Given the description of an element on the screen output the (x, y) to click on. 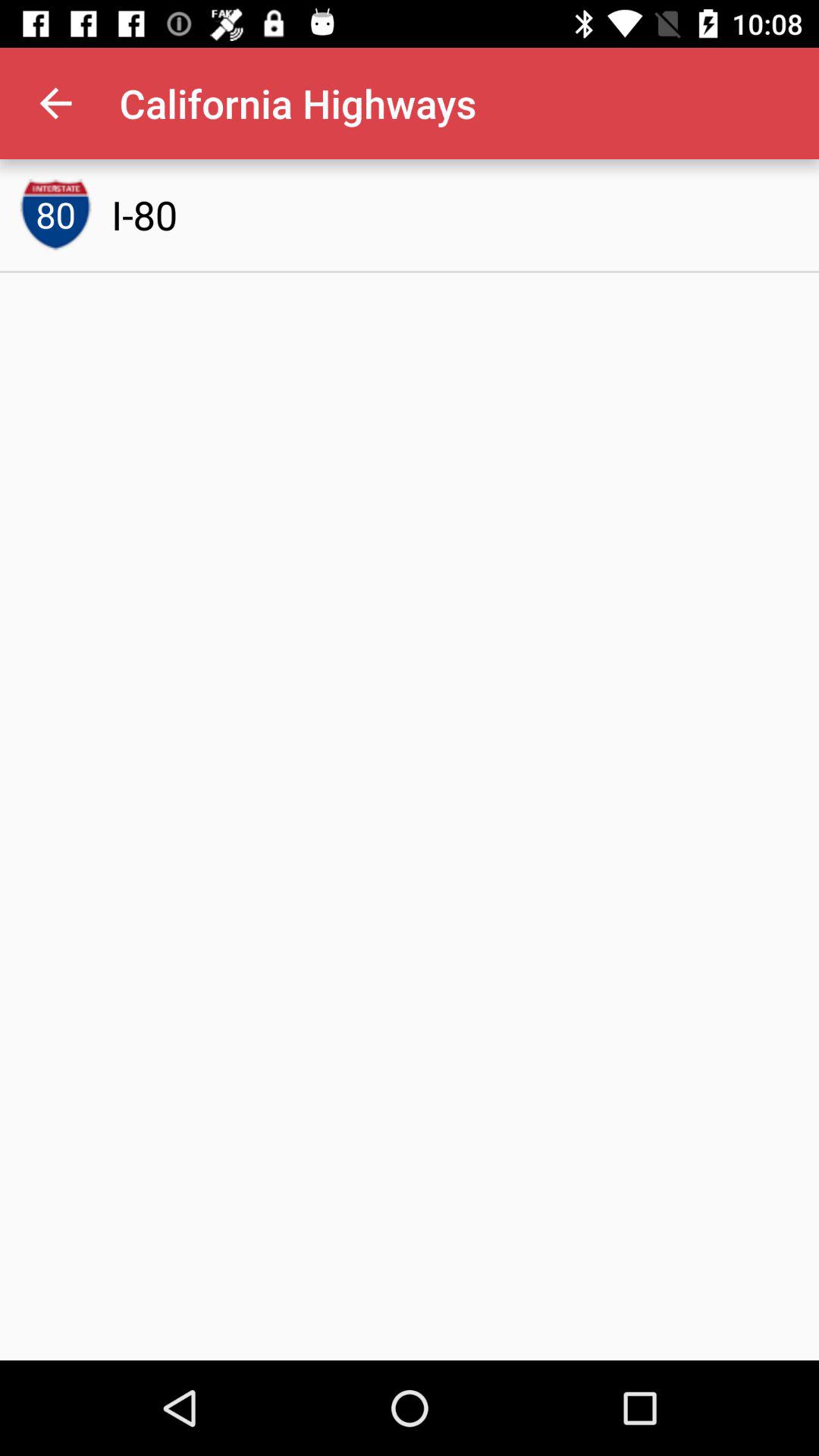
flip to i-80 (144, 214)
